Given the description of an element on the screen output the (x, y) to click on. 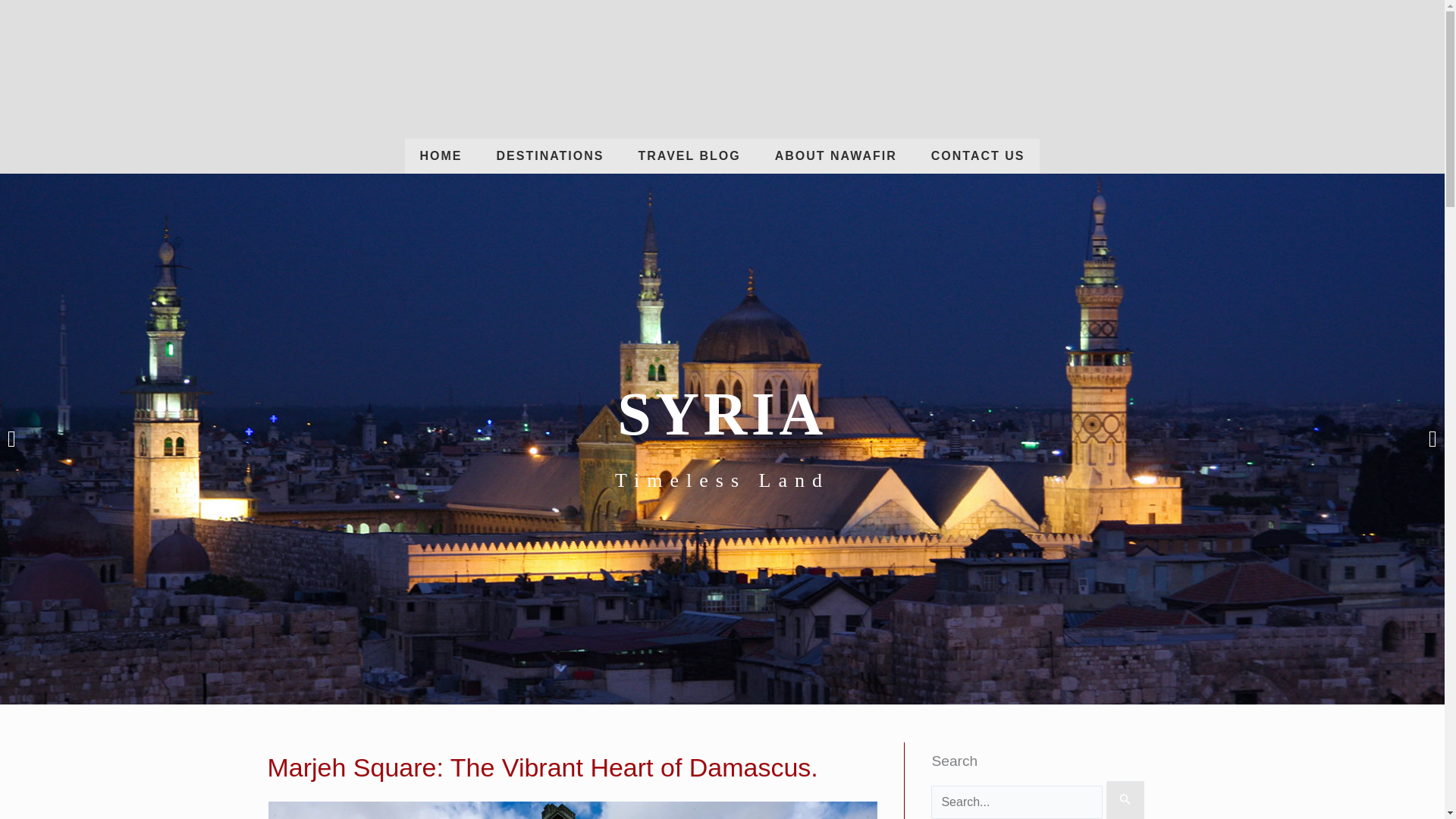
HOME (440, 155)
DESTINATIONS (550, 155)
CONTACT US (978, 155)
TRAVEL BLOG (689, 155)
ABOUT NAWAFIR (836, 155)
